Given the description of an element on the screen output the (x, y) to click on. 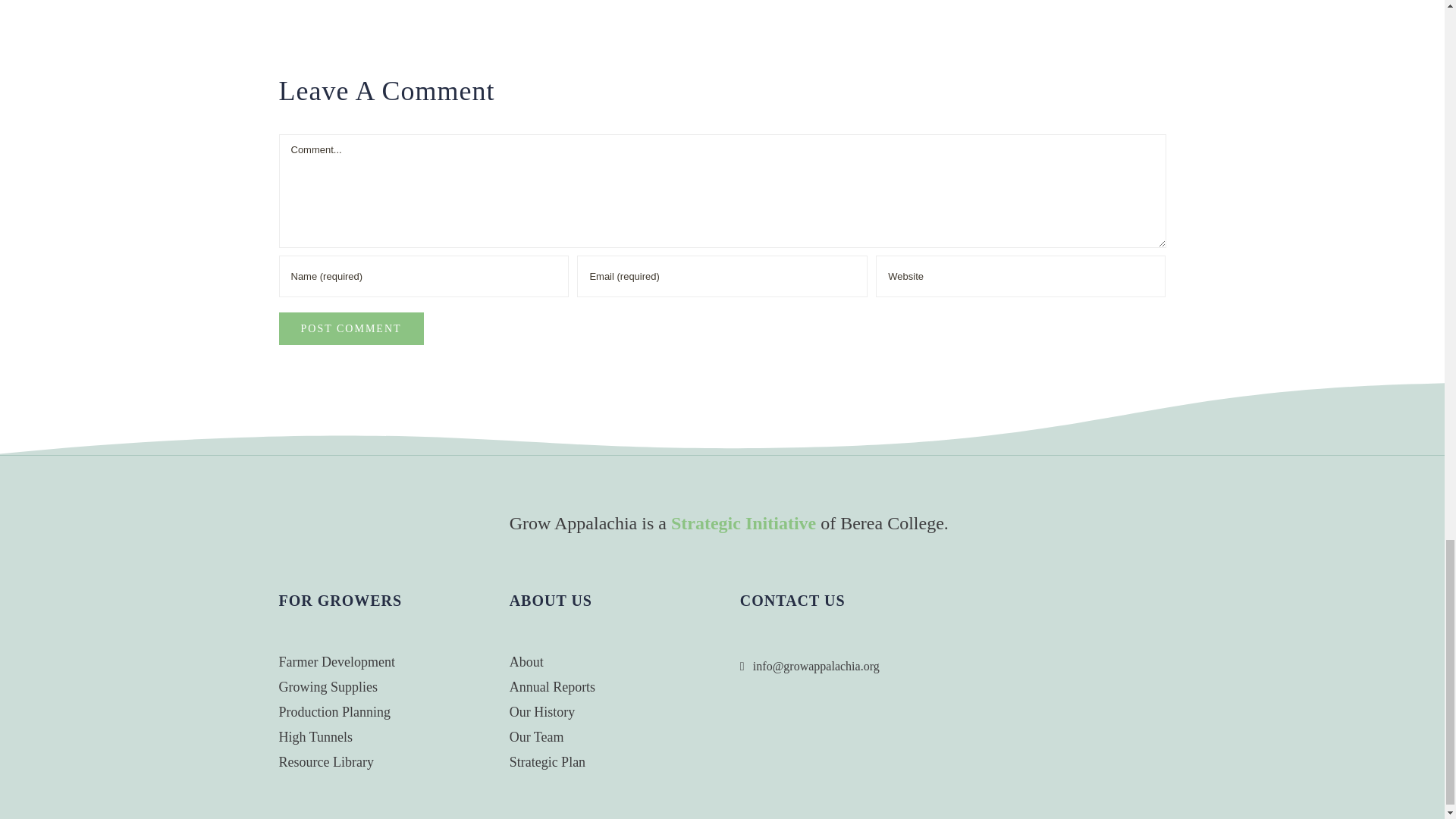
Post Comment (351, 328)
